Given the description of an element on the screen output the (x, y) to click on. 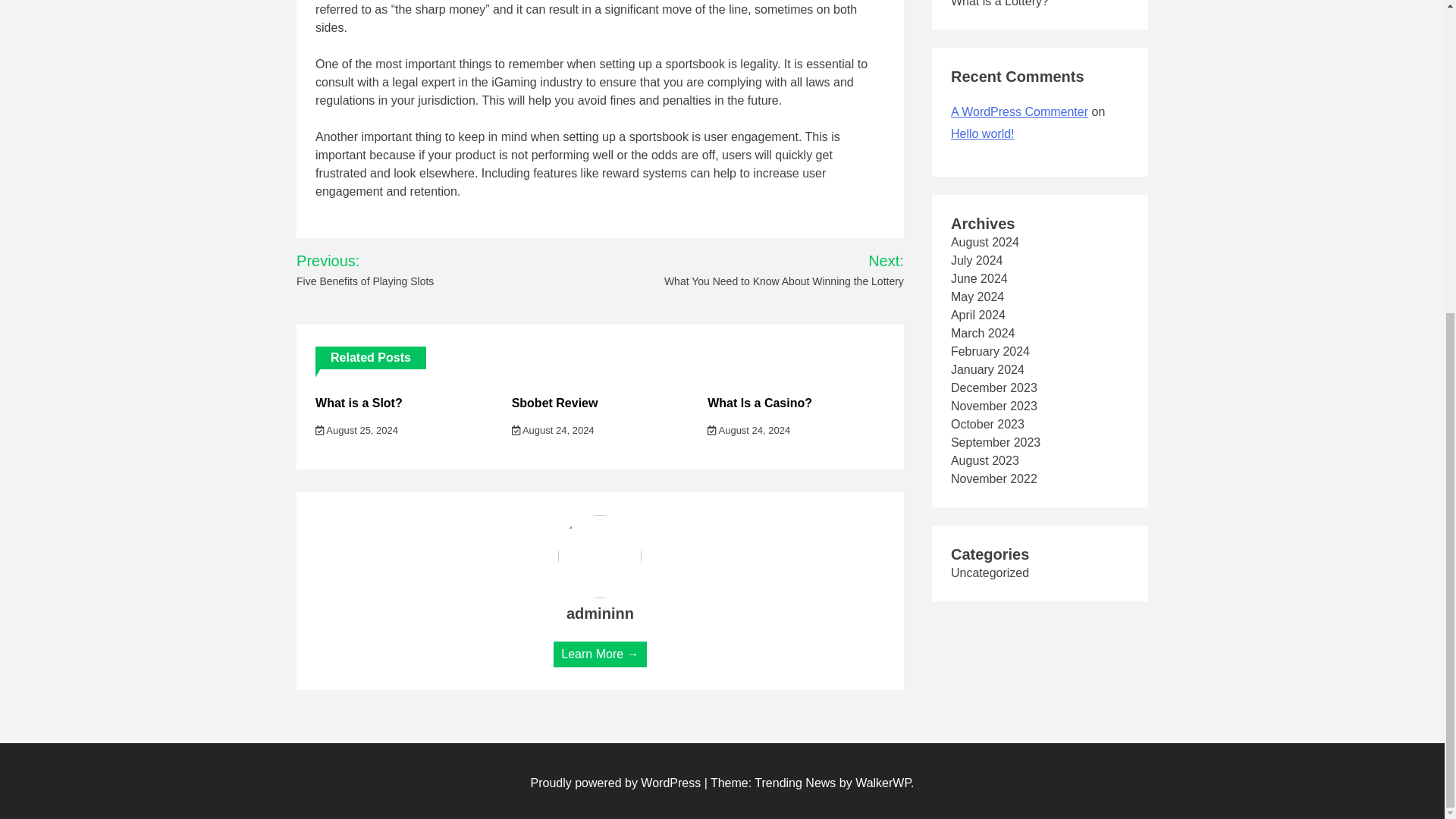
March 2024 (982, 332)
May 2024 (977, 296)
June 2024 (978, 278)
January 2024 (987, 369)
What is a Slot? (359, 402)
August 24, 2024 (553, 430)
August 25, 2024 (356, 430)
Hello world! (982, 133)
What is a Lottery? (999, 3)
What Is a Casino? (759, 402)
